Given the description of an element on the screen output the (x, y) to click on. 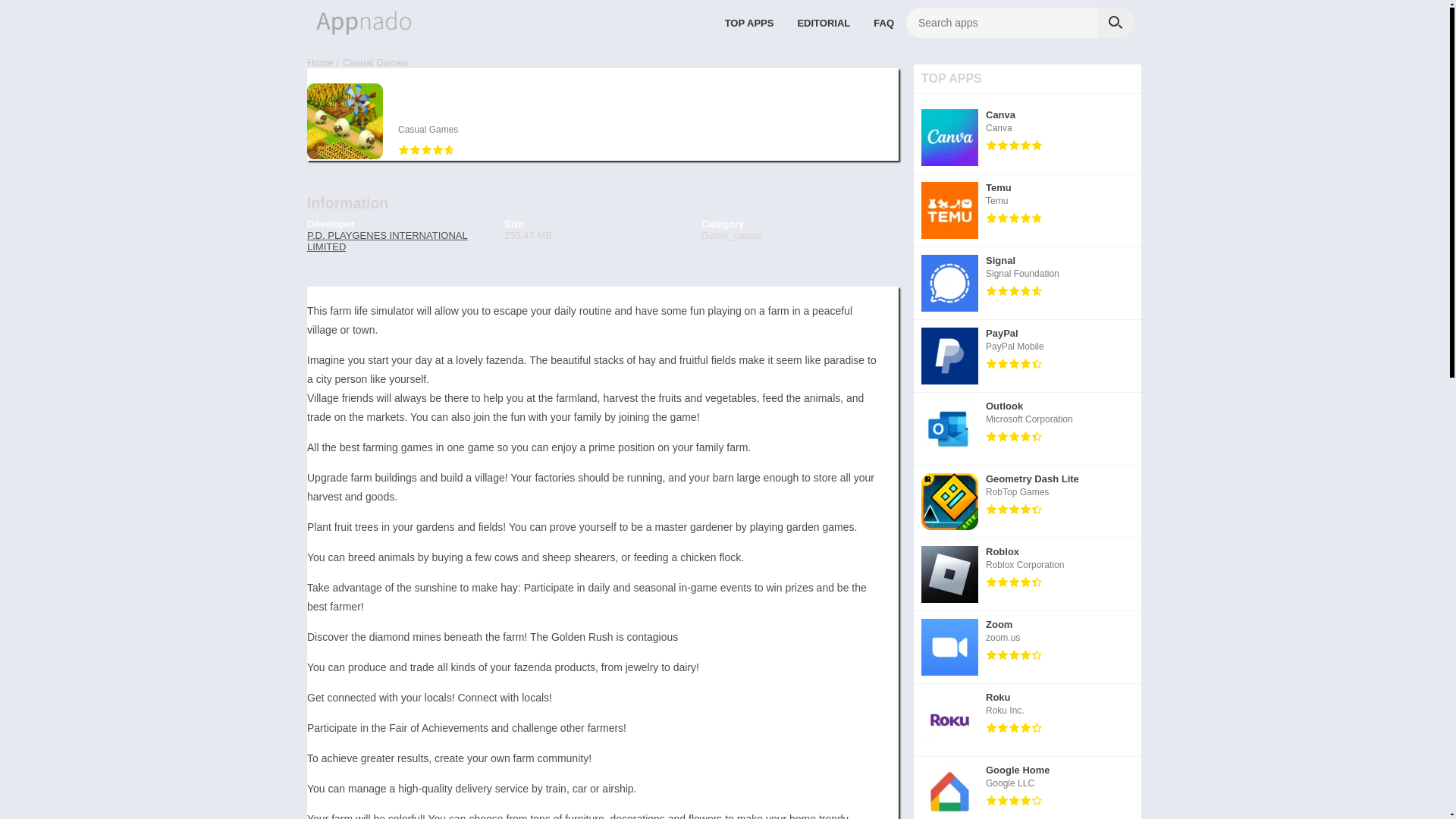
Casual Games (374, 61)
Casual Games (1027, 502)
FAQ (1027, 210)
EDITORIAL (427, 129)
Appnado (883, 22)
TOP APPS (823, 22)
P.D. PLAYGENES INTERNATIONAL LIMITED (1027, 137)
Home (1027, 429)
